Given the description of an element on the screen output the (x, y) to click on. 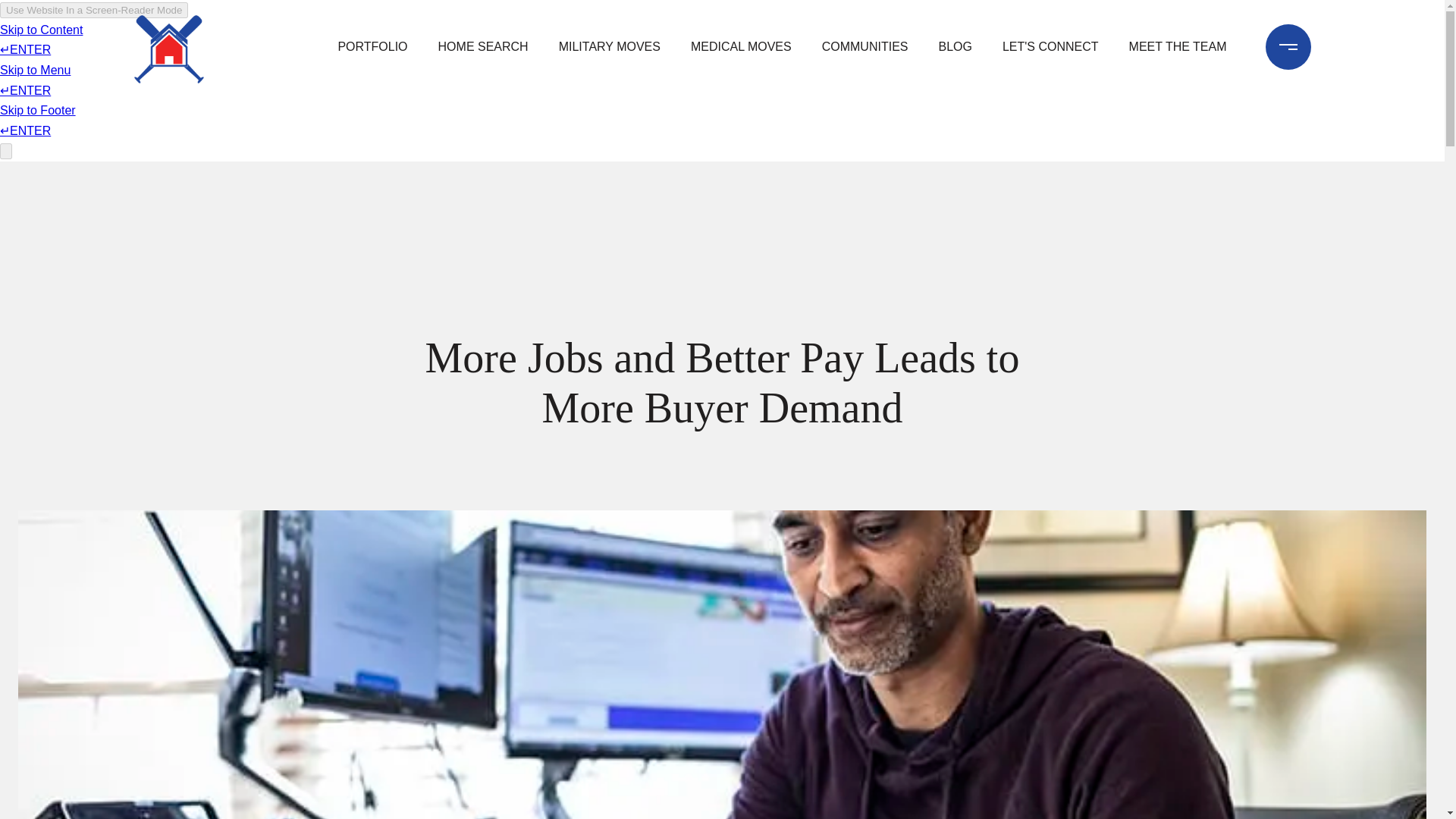
HOME SEARCH (482, 46)
COMMUNITIES (864, 46)
MEDICAL MOVES (740, 46)
BLOG (954, 46)
MILITARY MOVES (609, 46)
LET'S CONNECT (1050, 46)
MEET THE TEAM (1177, 46)
PORTFOLIO (372, 46)
